Given the description of an element on the screen output the (x, y) to click on. 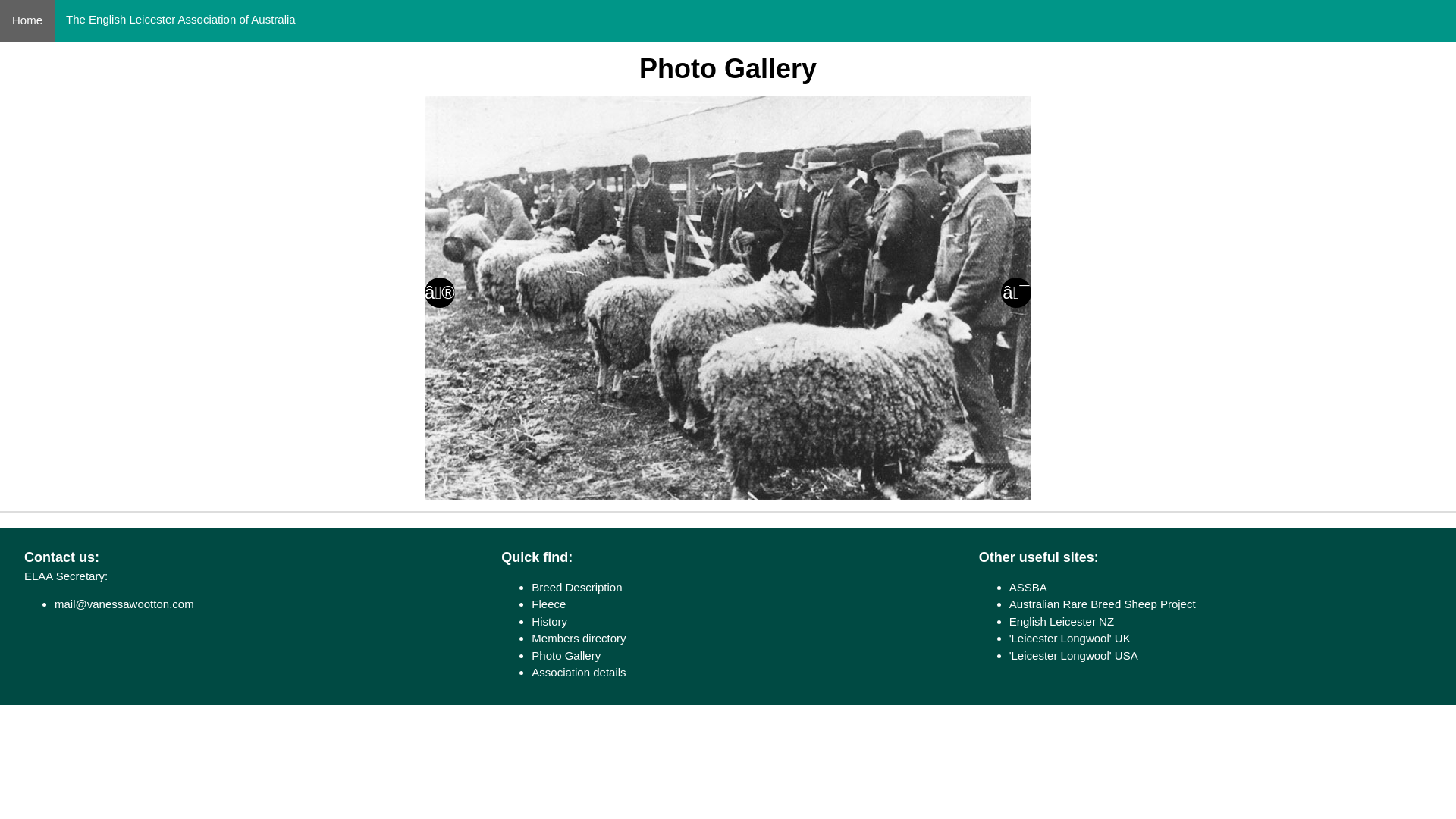
Association details Element type: text (578, 671)
Photo Gallery Element type: text (565, 655)
Breed Description Element type: text (576, 586)
History Element type: text (549, 621)
mail@vanessawootton.com Element type: text (124, 603)
English Leicester NZ Element type: text (1061, 621)
'Leicester Longwool' USA Element type: text (1073, 655)
Members directory Element type: text (578, 637)
Home Element type: text (27, 20)
'Leicester Longwool' UK Element type: text (1069, 637)
Australian Rare Breed Sheep Project Element type: text (1102, 603)
Fleece Element type: text (548, 603)
ASSBA Element type: text (1028, 586)
